Given the description of an element on the screen output the (x, y) to click on. 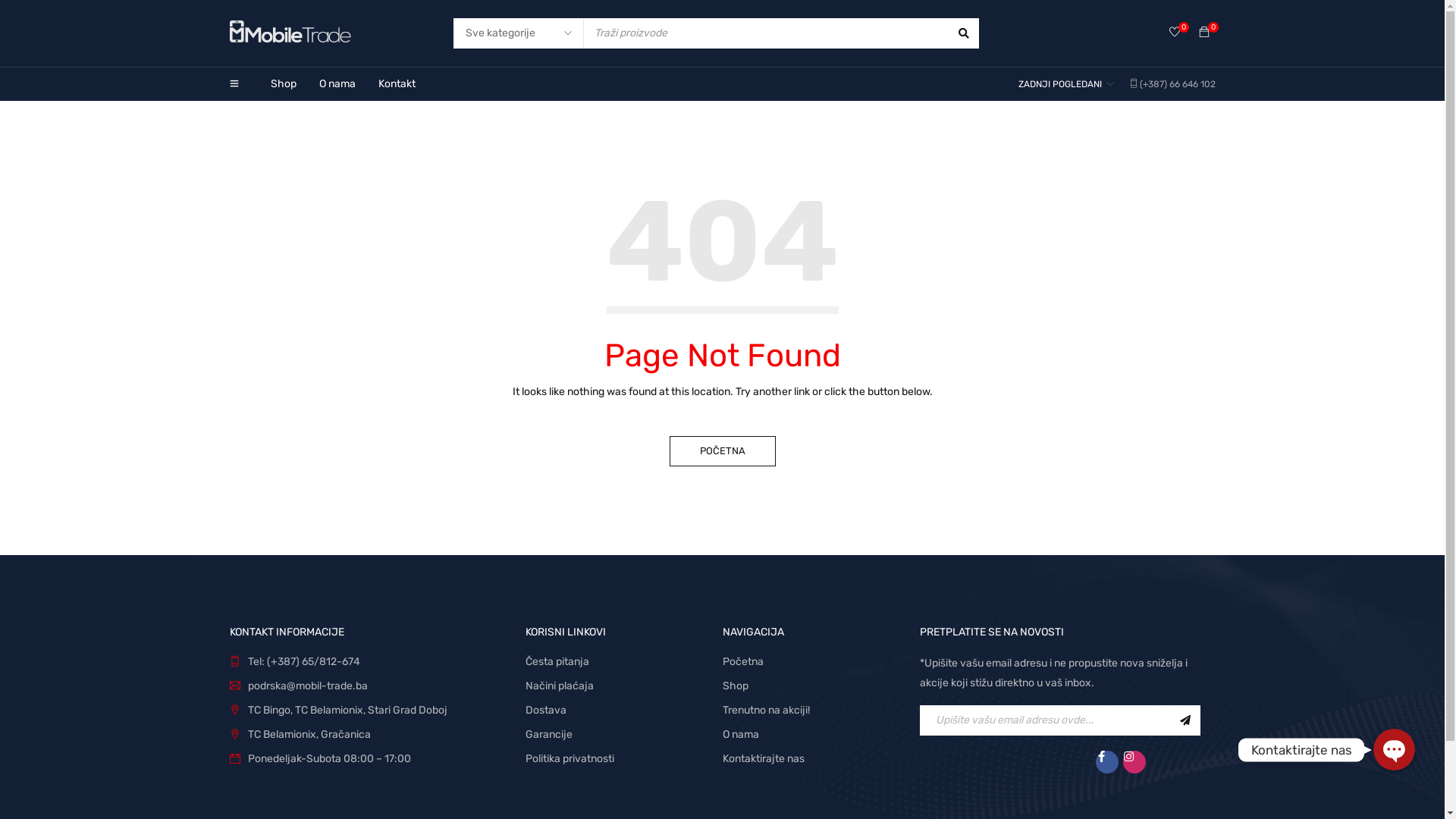
Kontakt Element type: text (395, 83)
Dostava  Element type: text (545, 709)
O nama Element type: text (739, 734)
Politika privatnosti Element type: text (568, 758)
Shop Element type: text (282, 83)
0 Element type: text (1174, 32)
O nama Element type: text (336, 83)
SIGN UP Element type: text (1184, 720)
Mobil Trade Element type: hover (289, 30)
Garancije Element type: text (547, 734)
Shop Element type: text (734, 685)
Kontaktirajte nas Element type: text (762, 758)
0 Element type: text (1203, 32)
